Given the description of an element on the screen output the (x, y) to click on. 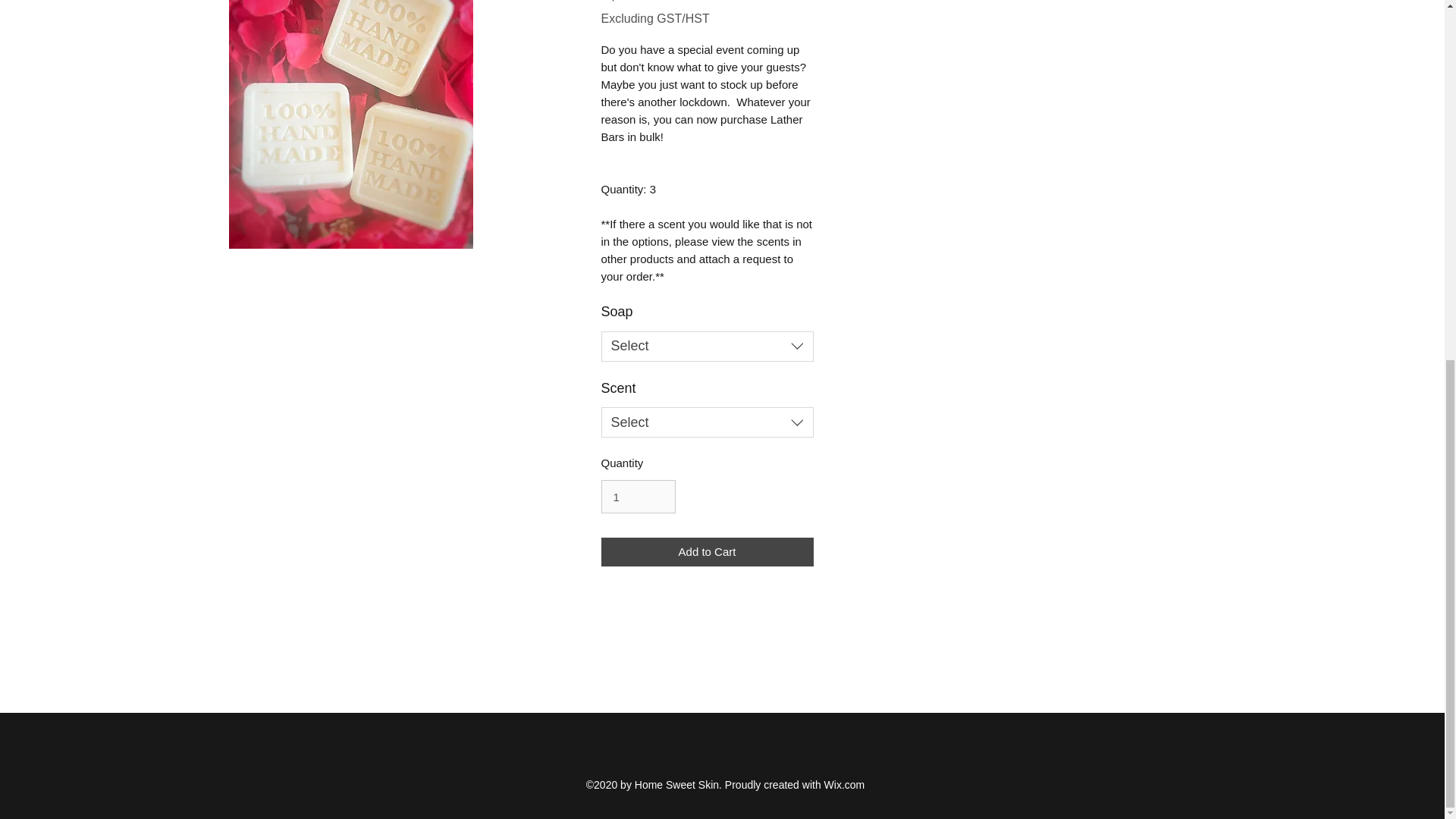
1 (637, 496)
Select (705, 422)
Add to Cart (705, 552)
Select (705, 346)
